Given the description of an element on the screen output the (x, y) to click on. 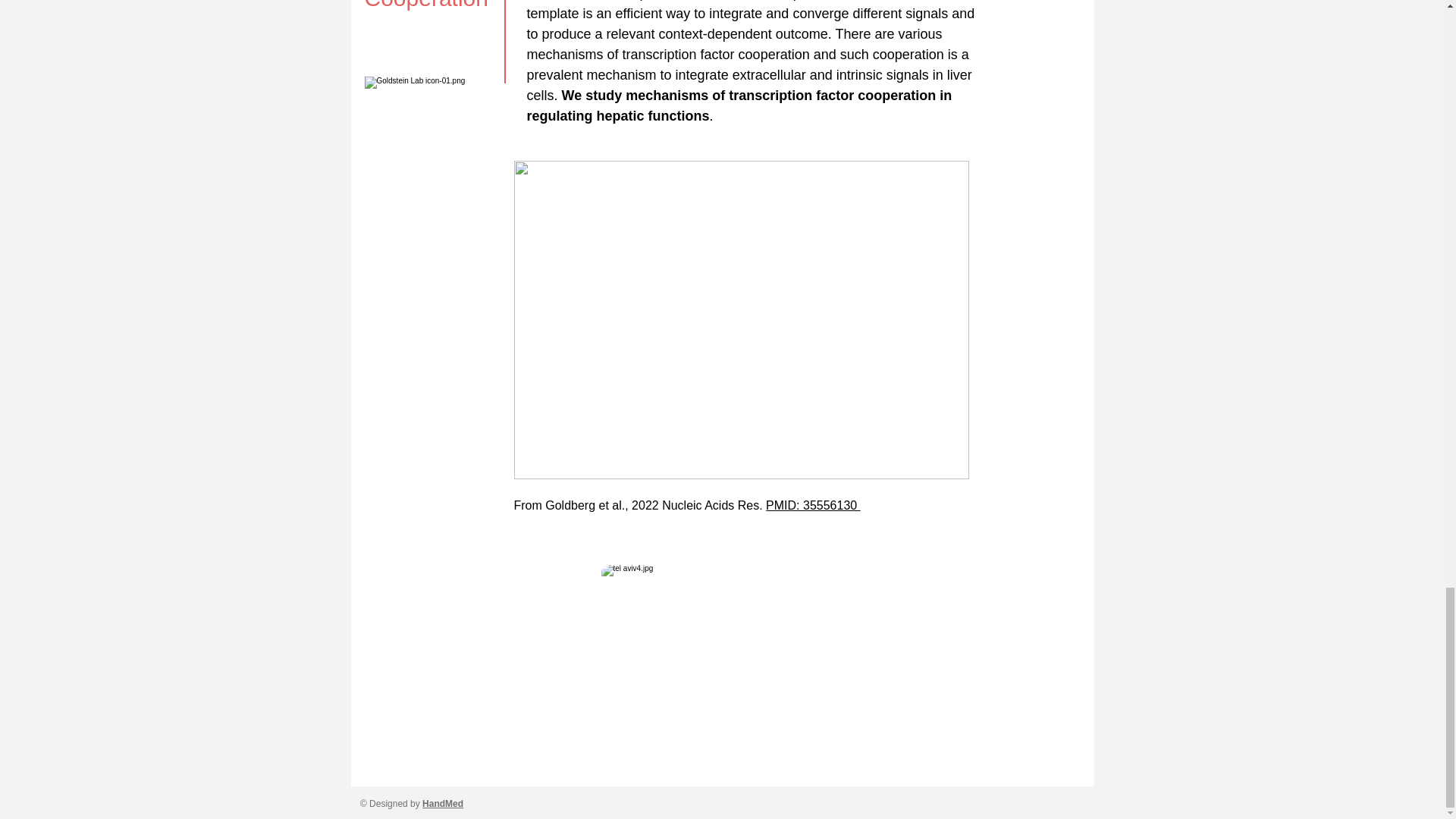
HandMed (442, 803)
PMID: 35556130  (812, 504)
